Given the description of an element on the screen output the (x, y) to click on. 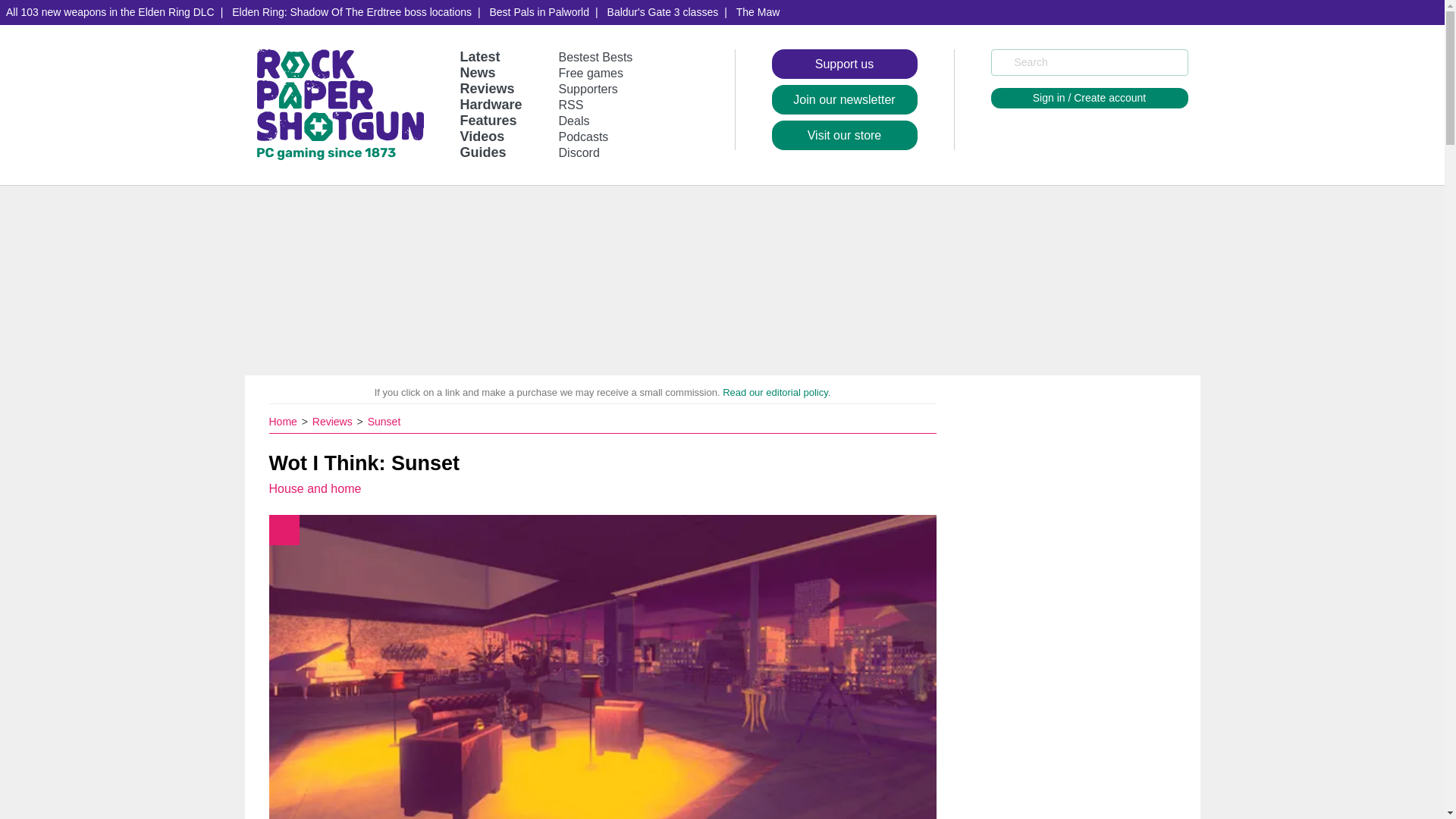
Support us (844, 63)
Visit our store (844, 134)
All 103 new weapons in the Elden Ring DLC (110, 12)
Free games (591, 72)
RSS (571, 104)
Latest (479, 56)
News (477, 72)
Reviews (486, 88)
Free games (591, 72)
Podcasts (583, 136)
Best Pals in Palworld (539, 12)
Discord (579, 152)
Bestest Bests (596, 56)
Features (488, 120)
All 103 new weapons in the Elden Ring DLC (110, 12)
